Given the description of an element on the screen output the (x, y) to click on. 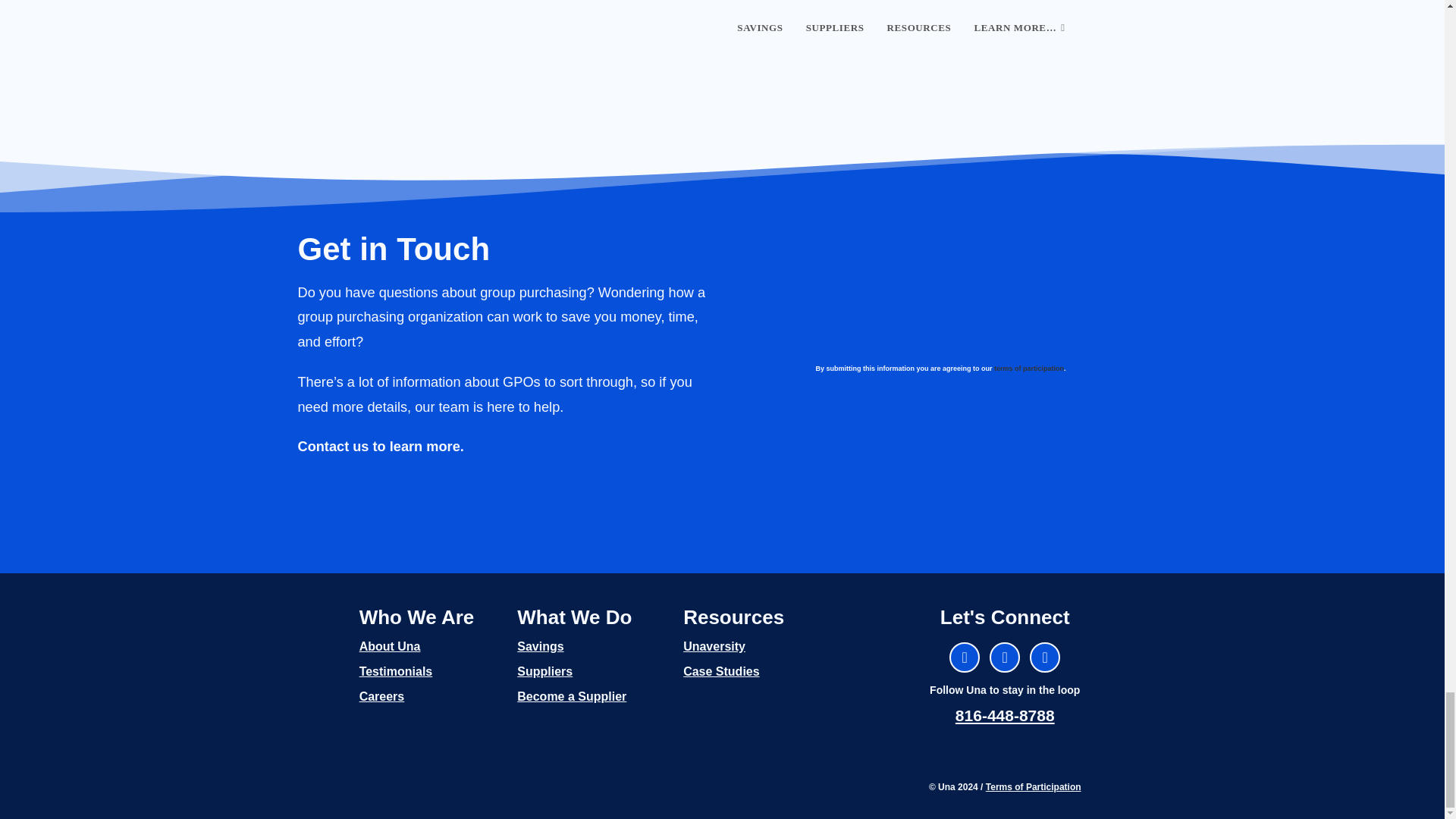
Become a Supplier (571, 696)
Careers (381, 696)
About Una (389, 645)
Testimonials (395, 671)
Suppliers (544, 671)
Form 0 (981, 290)
Terms of Participation (1033, 787)
Unaversity (713, 645)
Case Studies (720, 671)
Savings (539, 645)
